Given the description of an element on the screen output the (x, y) to click on. 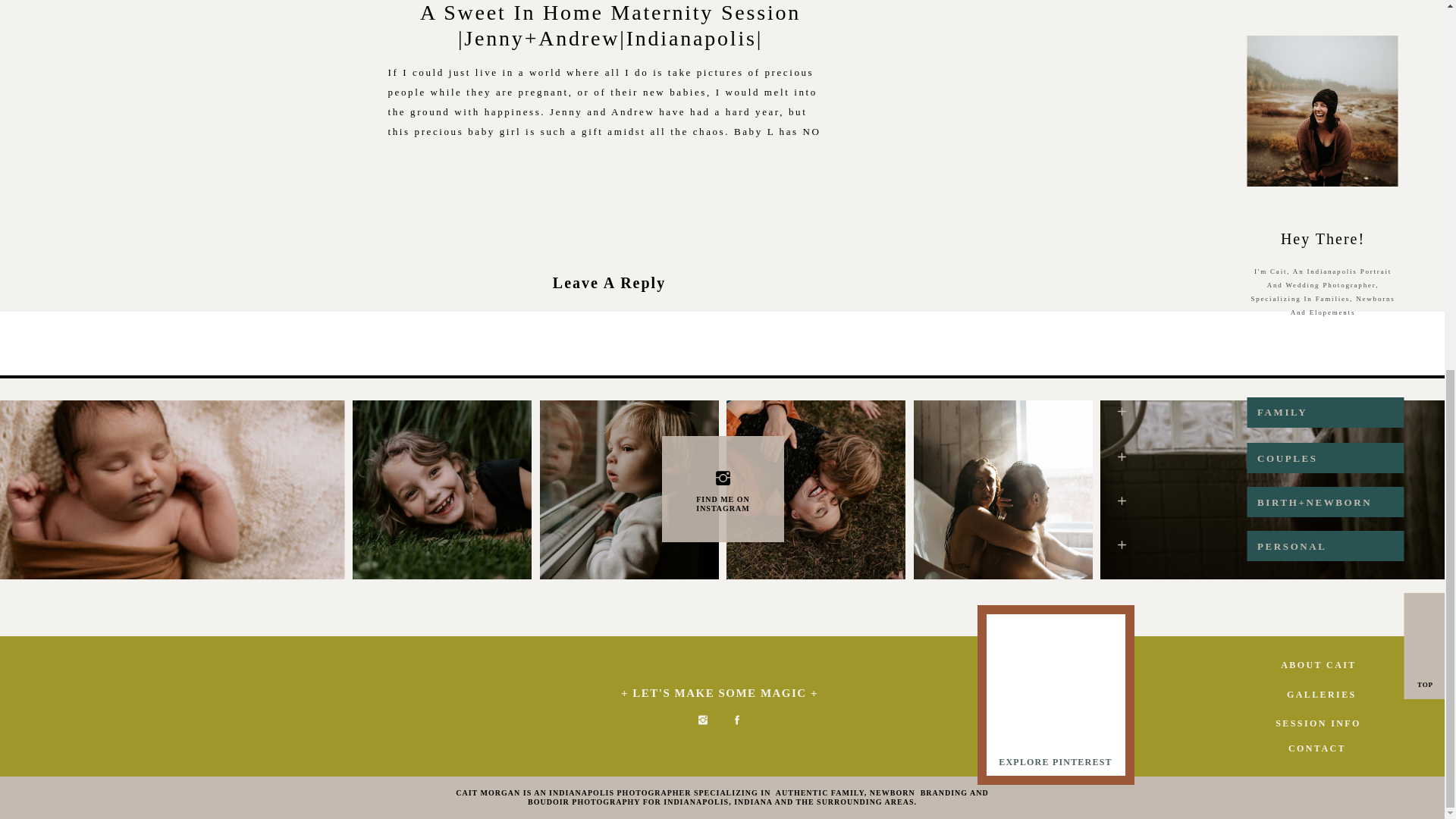
Post Comment (609, 563)
SESSION INFO (1318, 722)
TOP (1425, 685)
GALLERIES (1318, 694)
TOP (1425, 685)
FIND ME ON INSTAGRAM (722, 500)
CONTACT (1316, 747)
ABOUT CAIT (1317, 665)
Post Comment (609, 563)
